Given the description of an element on the screen output the (x, y) to click on. 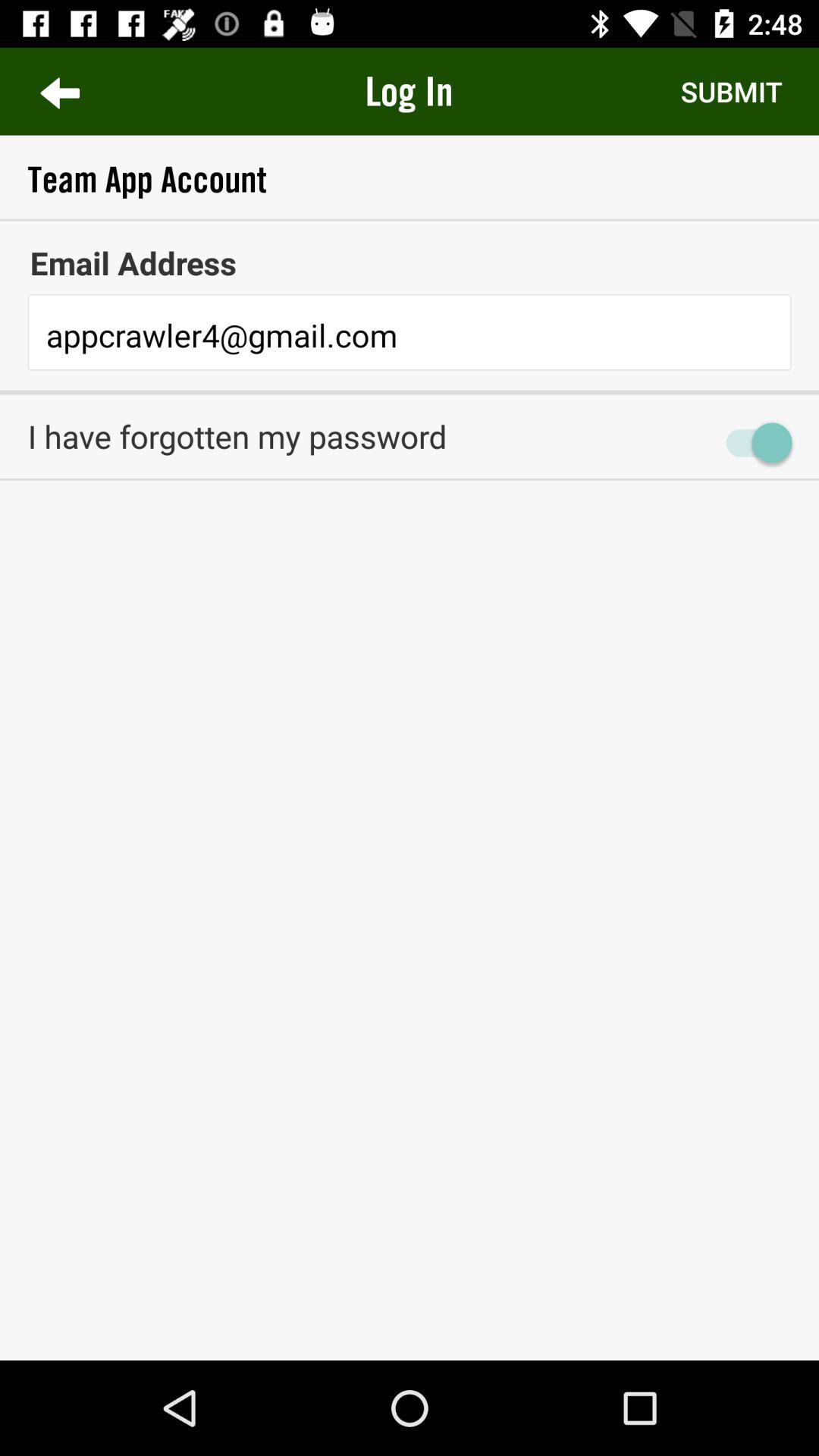
scroll until log in icon (409, 91)
